Given the description of an element on the screen output the (x, y) to click on. 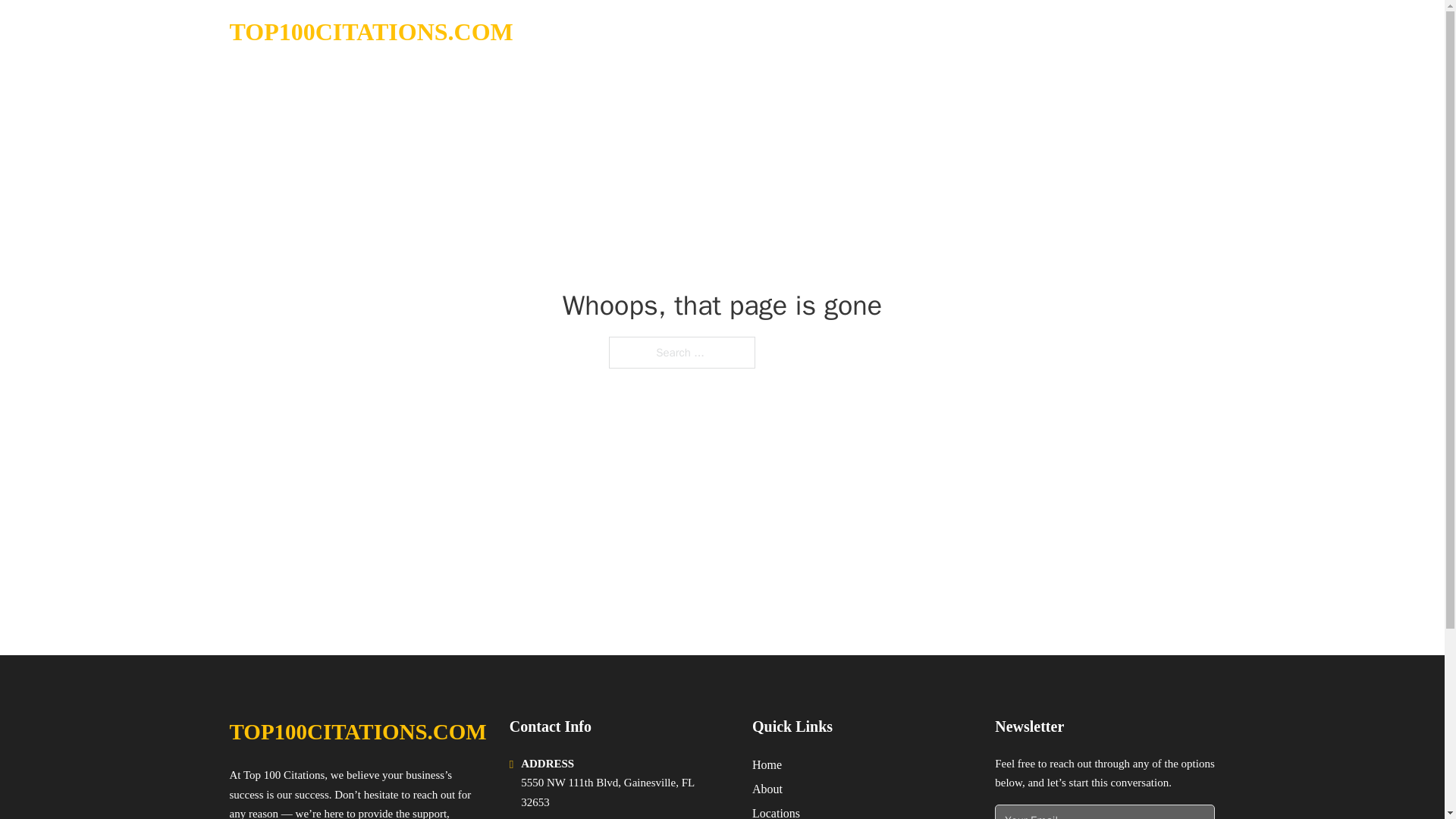
TOP100CITATIONS.COM (370, 31)
About (767, 788)
LOCATIONS (1098, 31)
HOME (1025, 31)
Home (766, 764)
Locations (775, 811)
TOP100CITATIONS.COM (357, 732)
